Given the description of an element on the screen output the (x, y) to click on. 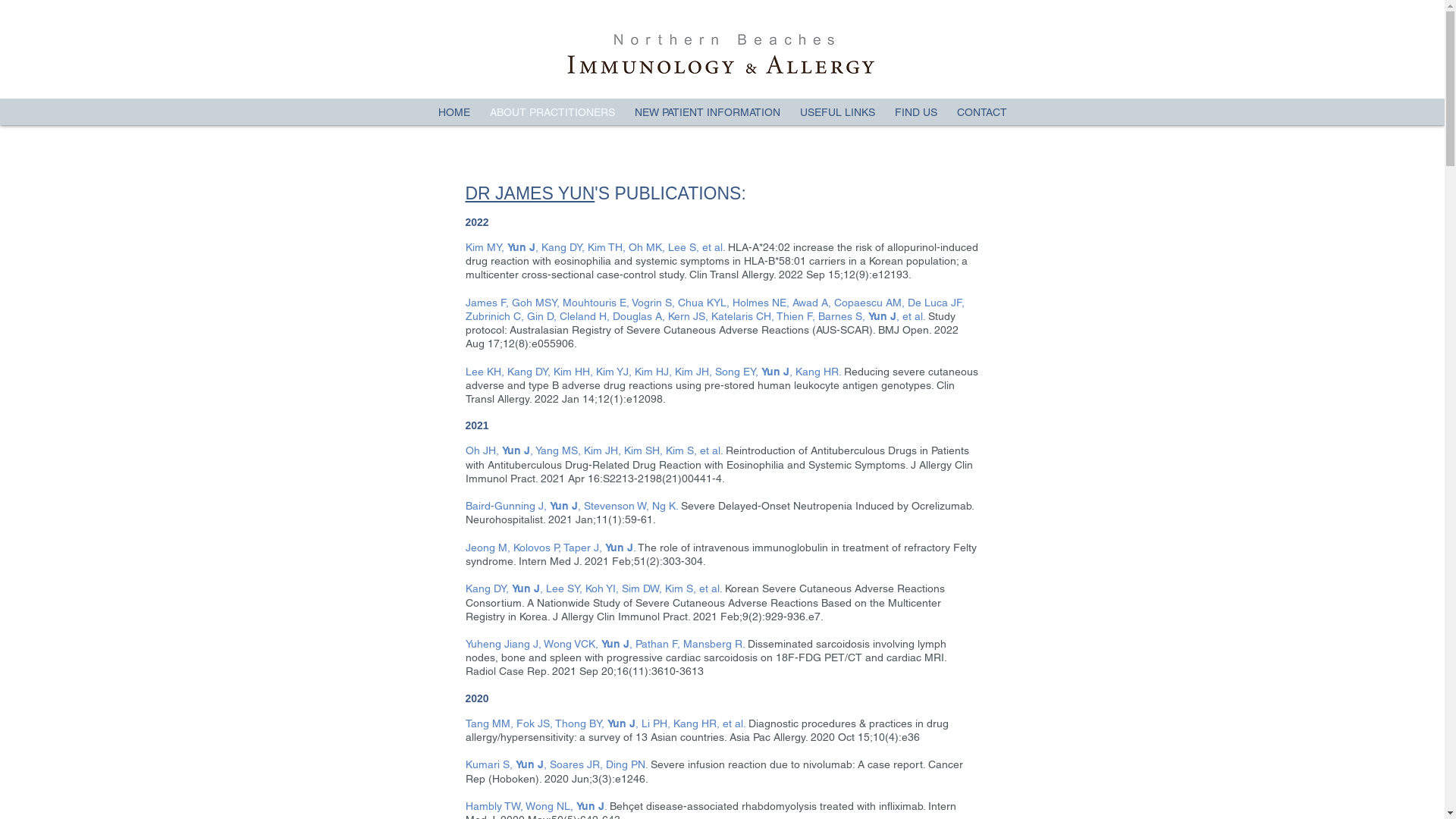
FIND US Element type: text (915, 111)
NEW PATIENT INFORMATION Element type: text (707, 111)
DR JAMES YUN Element type: text (530, 193)
CONTACT Element type: text (981, 111)
HOME Element type: text (453, 111)
USEFUL LINKS Element type: text (837, 111)
ABOUT PRACTITIONERS Element type: text (551, 111)
NBIA_logo_web.png Element type: hover (719, 53)
